Given the description of an element on the screen output the (x, y) to click on. 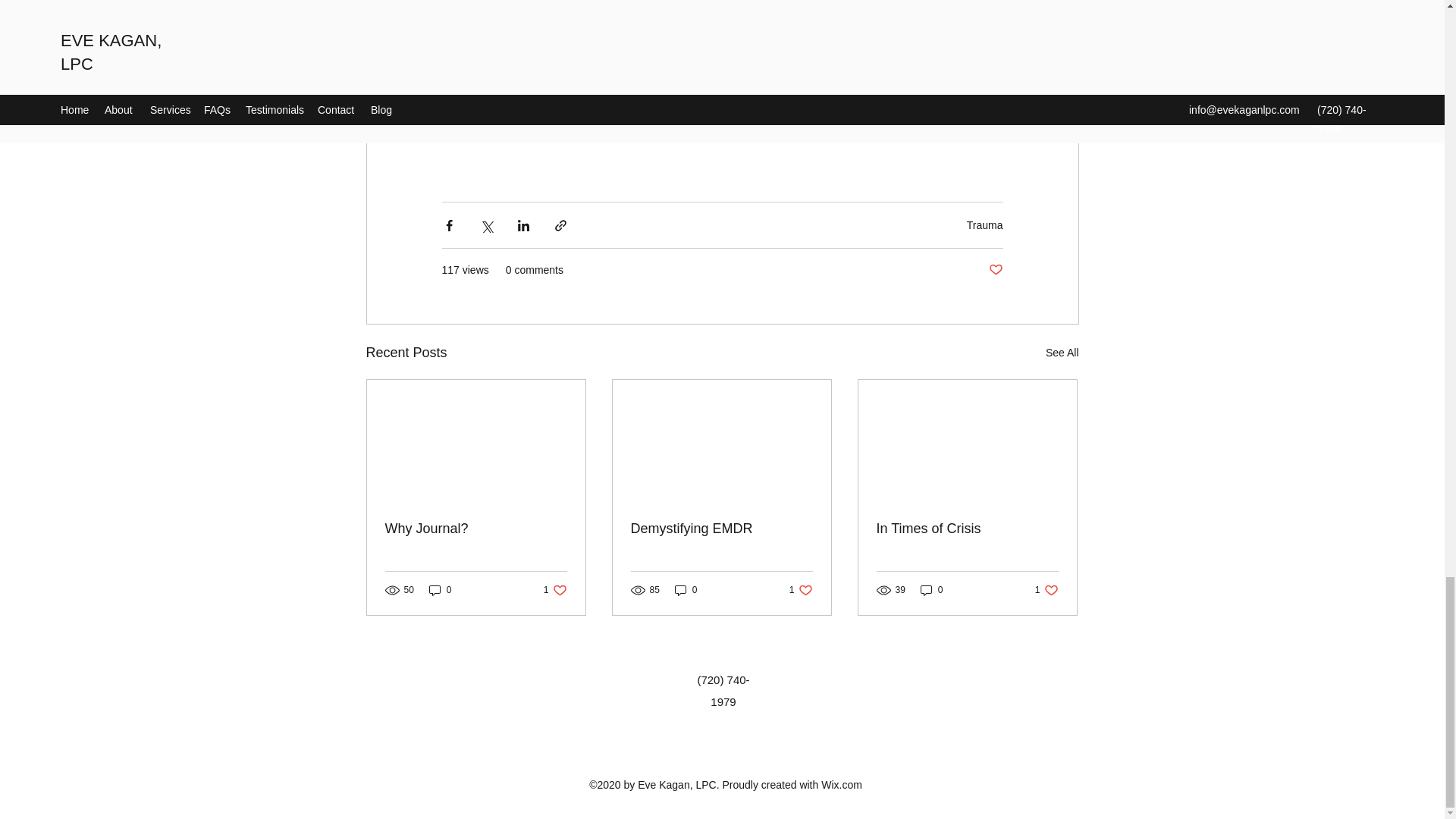
Trauma (984, 224)
0 (931, 590)
0 (555, 590)
See All (1046, 590)
Why Journal? (685, 590)
0 (1061, 352)
Post not marked as liked (476, 528)
